Given the description of an element on the screen output the (x, y) to click on. 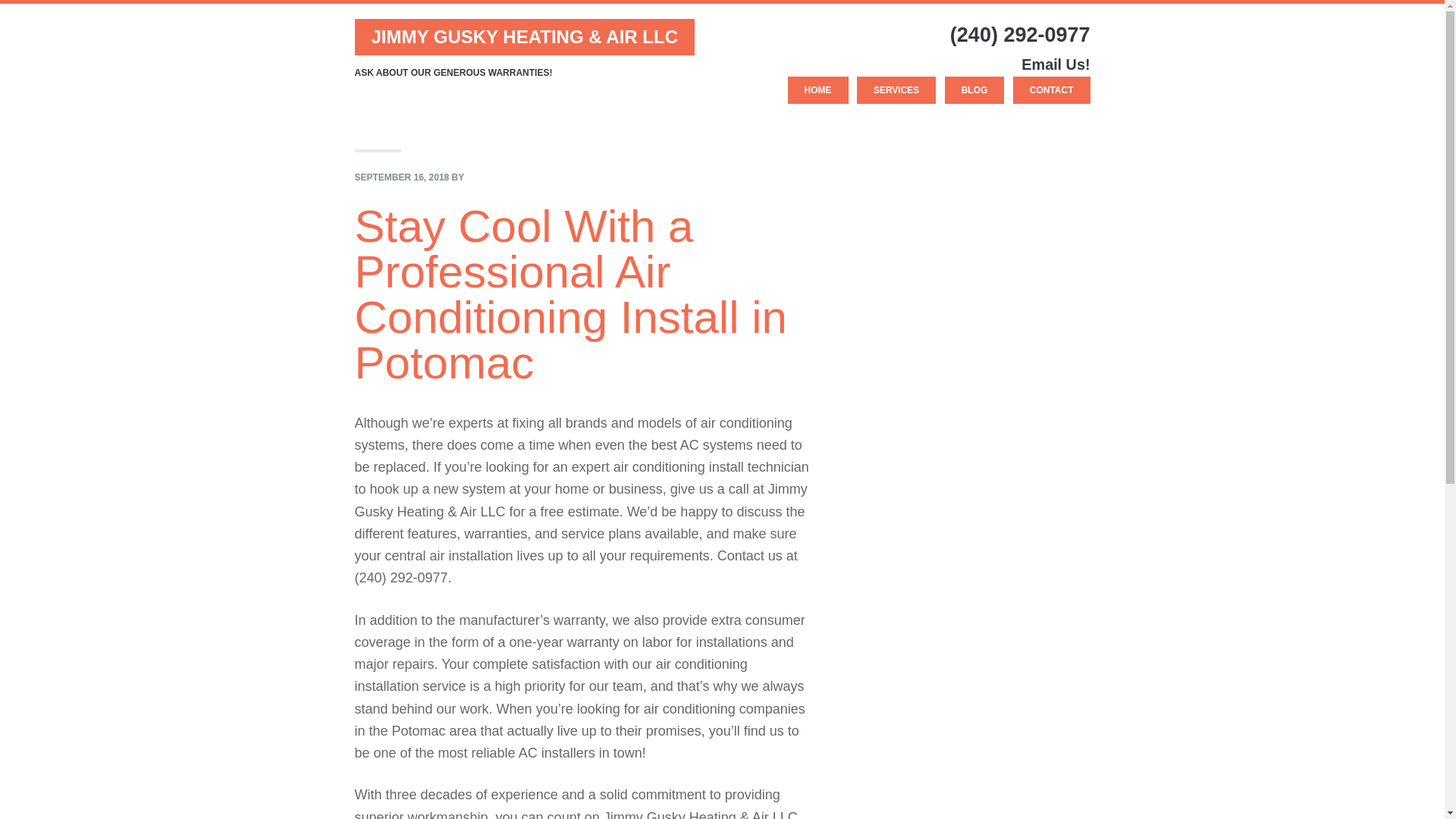
SERVICES (896, 90)
Services (896, 90)
Contact (1051, 90)
HOME (817, 90)
Email Us! (1055, 64)
CONTACT (1051, 90)
BLOG (974, 90)
Home (817, 90)
Blog (974, 90)
